Given the description of an element on the screen output the (x, y) to click on. 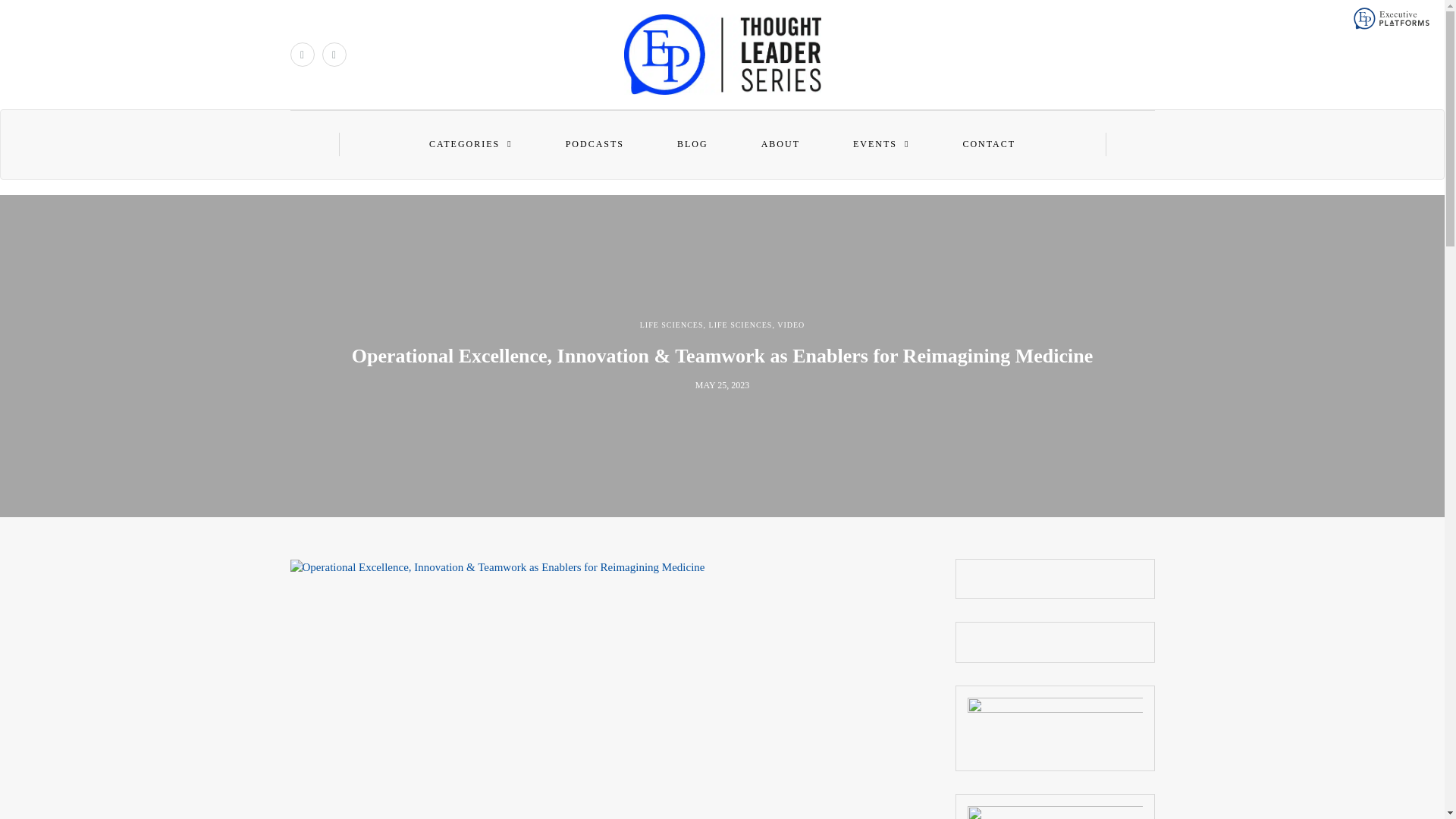
PODCASTS (594, 144)
VIDEO (791, 325)
LIFE SCIENCES (741, 325)
ABOUT (780, 144)
EVENTS (880, 144)
CATEGORIES (470, 144)
CONTACT (988, 144)
LIFE SCIENCES (671, 325)
BLOG (691, 144)
